Given the description of an element on the screen output the (x, y) to click on. 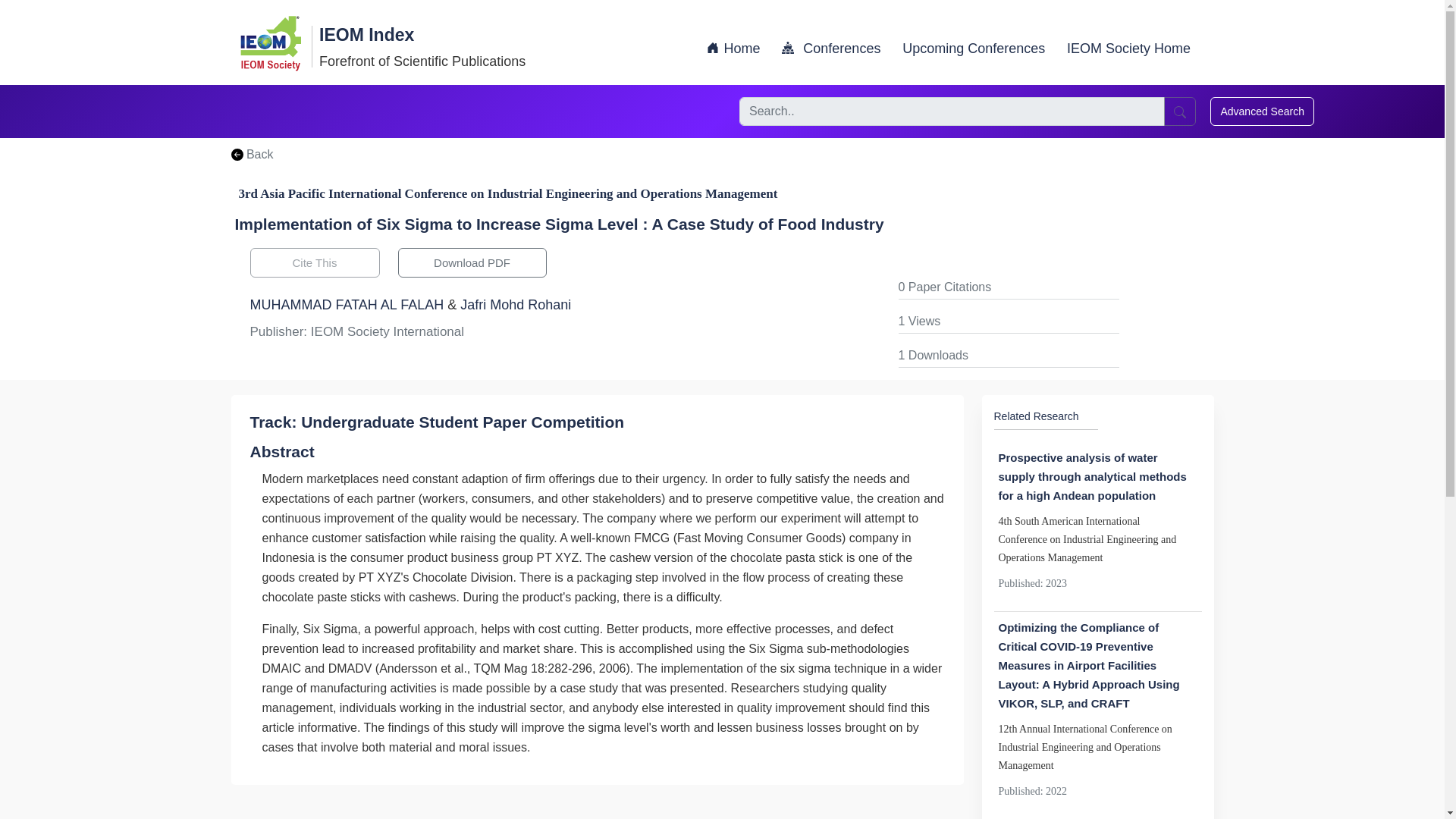
IEOM Society Home (1128, 48)
Cite This (315, 262)
MUHAMMAD FATAH AL FALAH (347, 304)
Advanced Search (1261, 111)
Back (251, 154)
Home (733, 48)
Upcoming Conferences (973, 48)
Jafri Mohd Rohani (515, 304)
Download PDF (471, 262)
Conferences (831, 48)
